Given the description of an element on the screen output the (x, y) to click on. 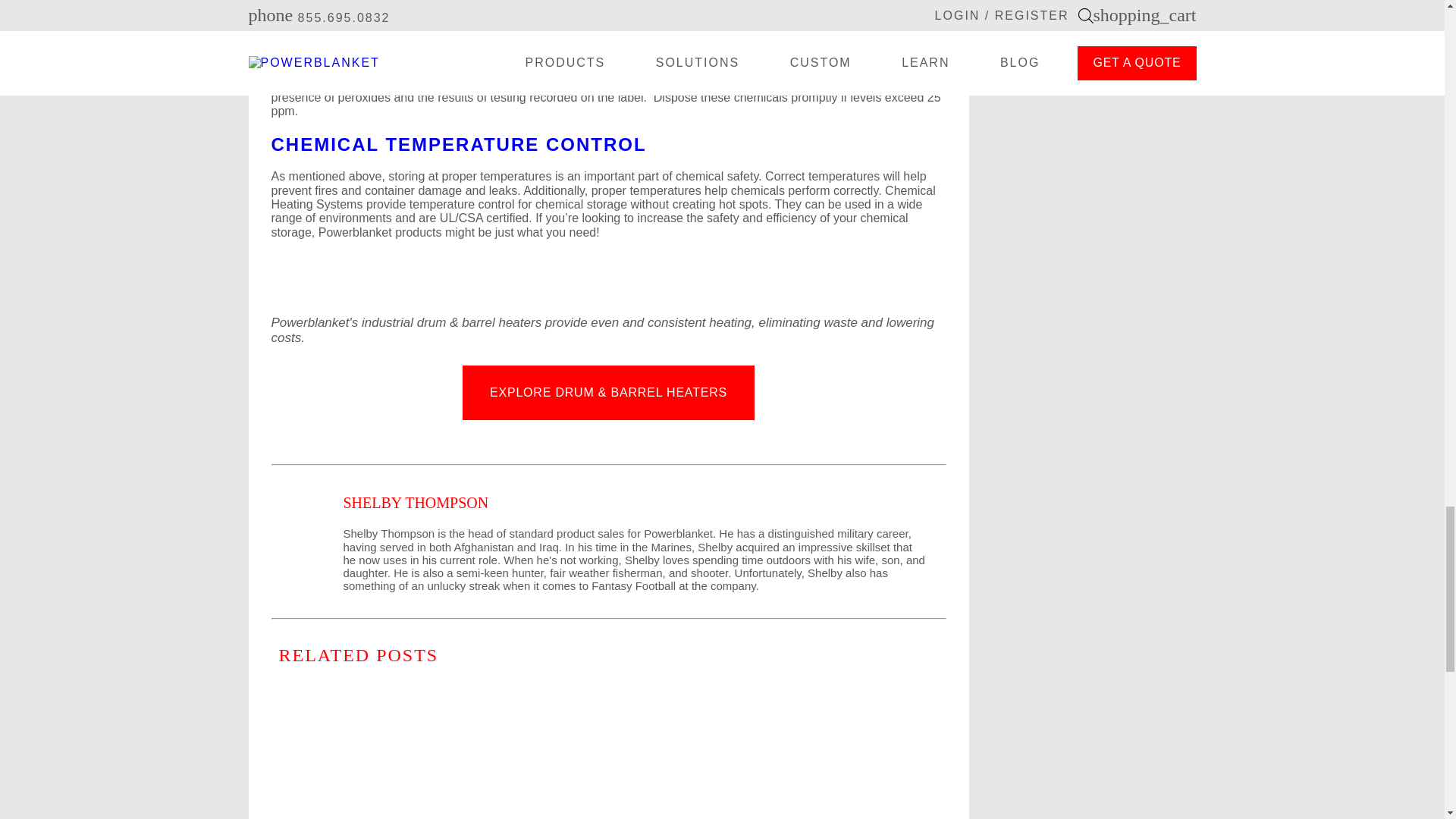
Drums, Totes and Barrels: Protecting Your Bulk Storage (343, 816)
Drum Insulation Blanket (487, 816)
Product Spotlight: IBC Tote Heater (631, 816)
